Given the description of an element on the screen output the (x, y) to click on. 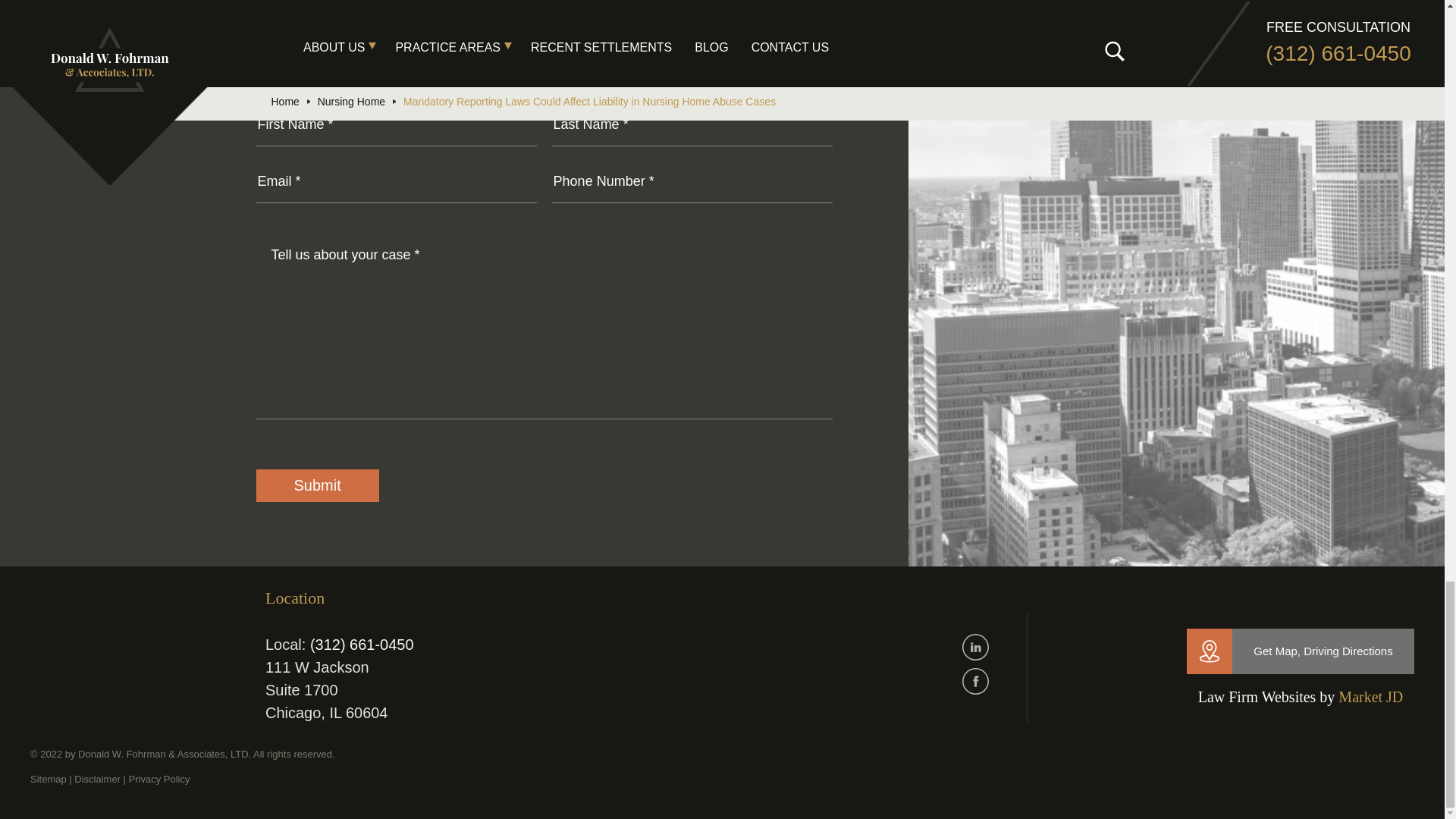
Disclaimer (97, 778)
Privacy (159, 778)
facebook (975, 681)
linkedin (975, 646)
sitemap (48, 778)
website (1370, 696)
Submit (317, 485)
